Given the description of an element on the screen output the (x, y) to click on. 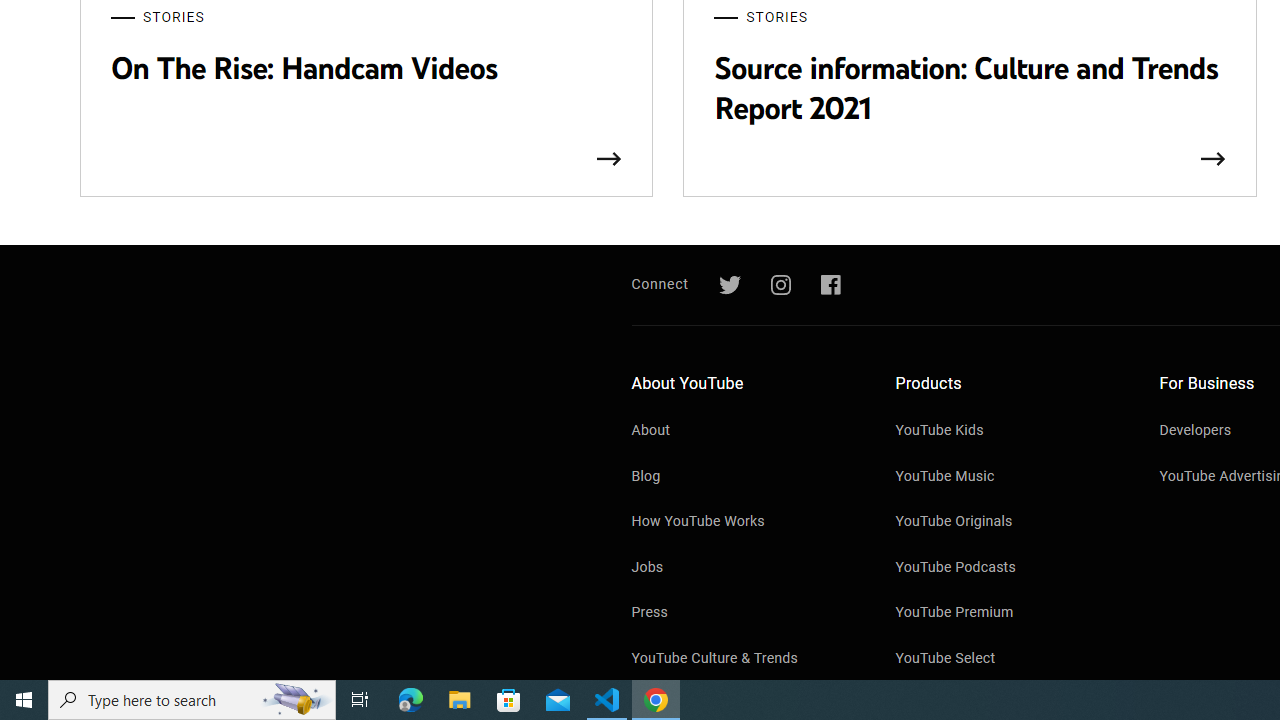
YouTube Culture & Trends (743, 659)
